Given the description of an element on the screen output the (x, y) to click on. 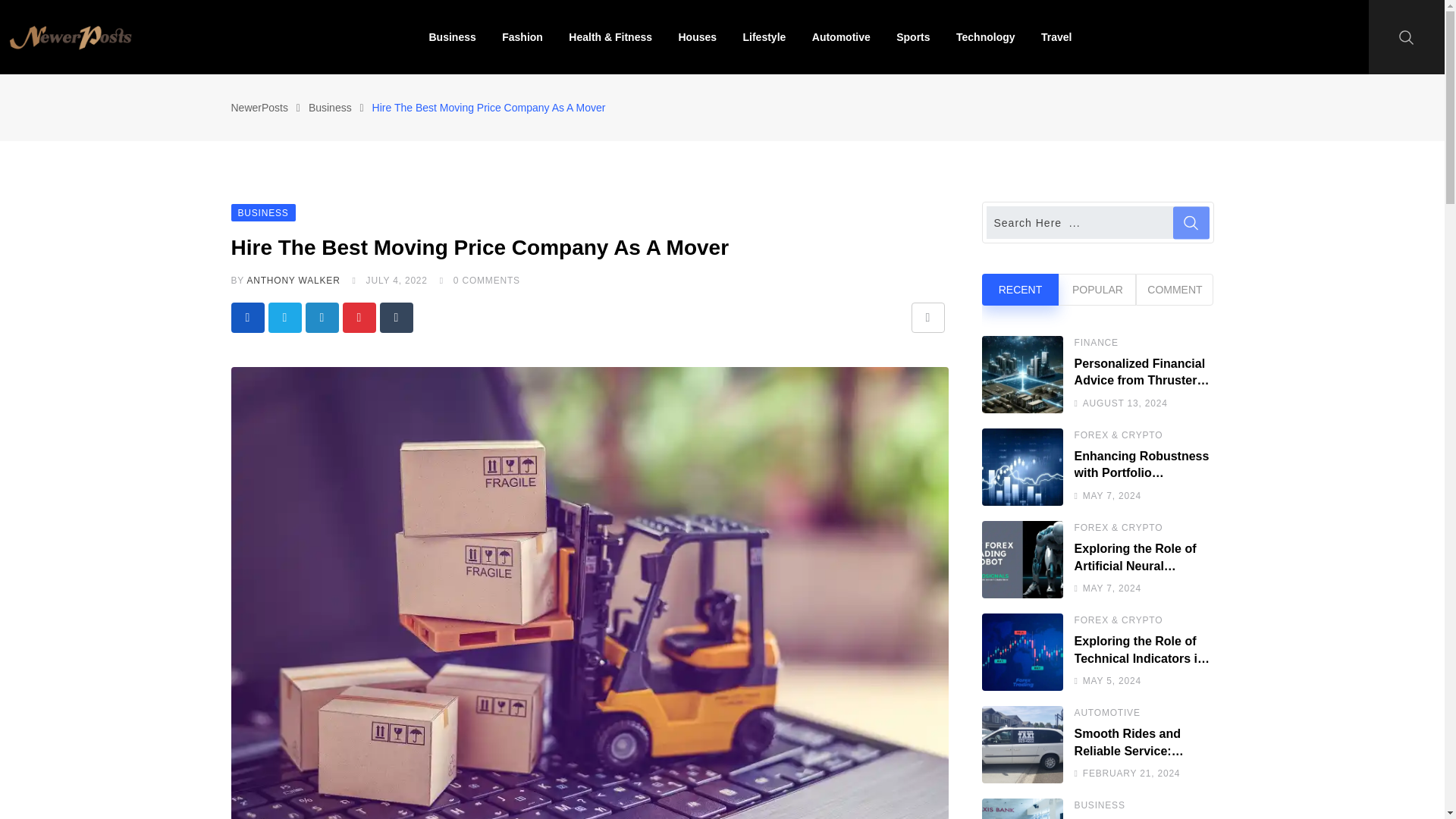
Pinterest (358, 317)
Posts by Anthony Walker (292, 280)
Business (451, 37)
Tumblr (395, 317)
Go to NewerPosts. (258, 107)
Automotive (841, 37)
Technology (985, 37)
ANTHONY WALKER (292, 280)
